Given the description of an element on the screen output the (x, y) to click on. 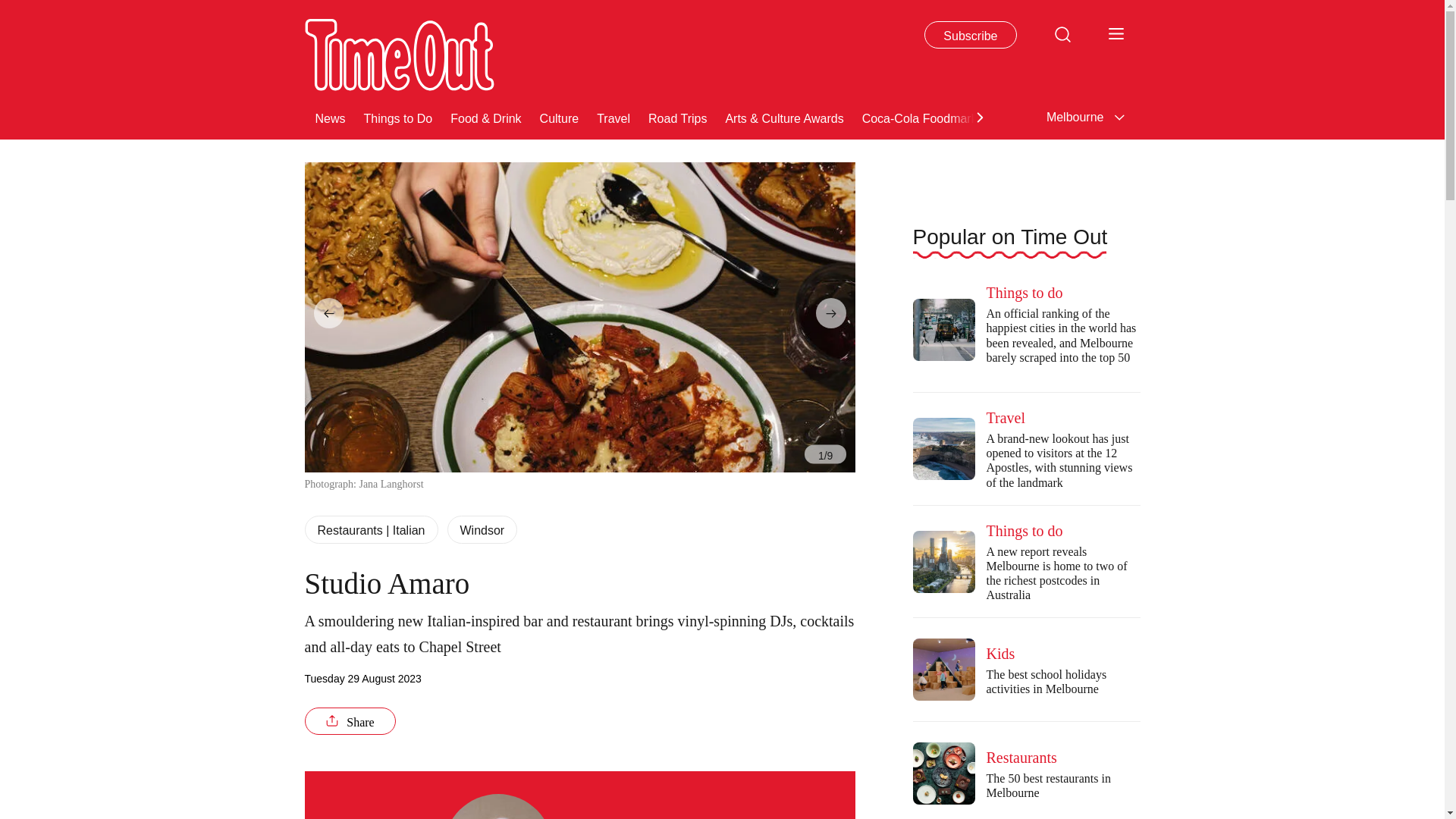
Things to Do (397, 116)
Road Trips (676, 116)
Travel (613, 116)
Go to the content (10, 7)
Coca-Cola Foodmarks (922, 116)
Time In (1381, 116)
Search (1061, 33)
Subscribe (970, 34)
News (330, 116)
Culture (559, 116)
